Given the description of an element on the screen output the (x, y) to click on. 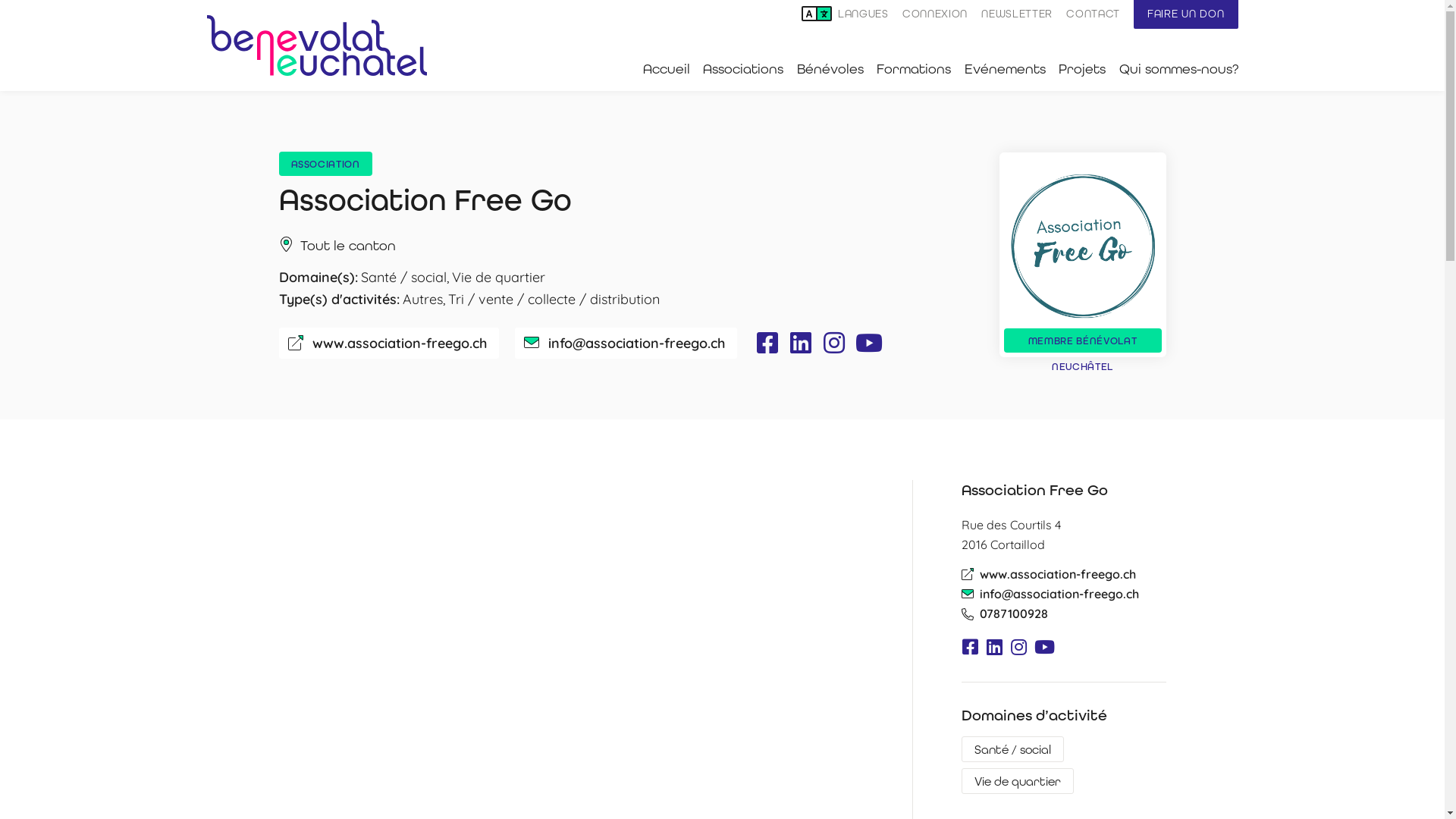
Projets Element type: text (1081, 68)
info@association-freego.ch Element type: text (635, 342)
Suivez-nous sur Instagram Element type: text (834, 342)
NEWSLETTER Element type: text (1016, 14)
Nous suivre sur YouTube Element type: text (1043, 646)
Suivez-nous sur Facebook Element type: text (970, 646)
Suivez-nous sur Facebook Element type: text (767, 342)
LANGUES Element type: text (844, 14)
0787100928 Element type: text (1013, 613)
Accueil Element type: text (666, 68)
Qui sommes-nous? Element type: text (1178, 68)
Suivez-nous sur Instagram Element type: text (1019, 646)
CONNEXION Element type: text (934, 14)
info@association-freego.ch Element type: text (1059, 593)
Associations Element type: text (742, 68)
FAIRE UN DON Element type: text (1185, 14)
Nous suivre sur YouTube Element type: text (867, 342)
www.association-freego.ch Element type: text (399, 342)
Suivez-nous sur LinkedIn Element type: text (994, 646)
Suivez-nous sur LinkedIn Element type: text (800, 342)
Formations Element type: text (913, 68)
www.association-freego.ch Element type: text (1057, 573)
CONTACT Element type: text (1093, 14)
